Given the description of an element on the screen output the (x, y) to click on. 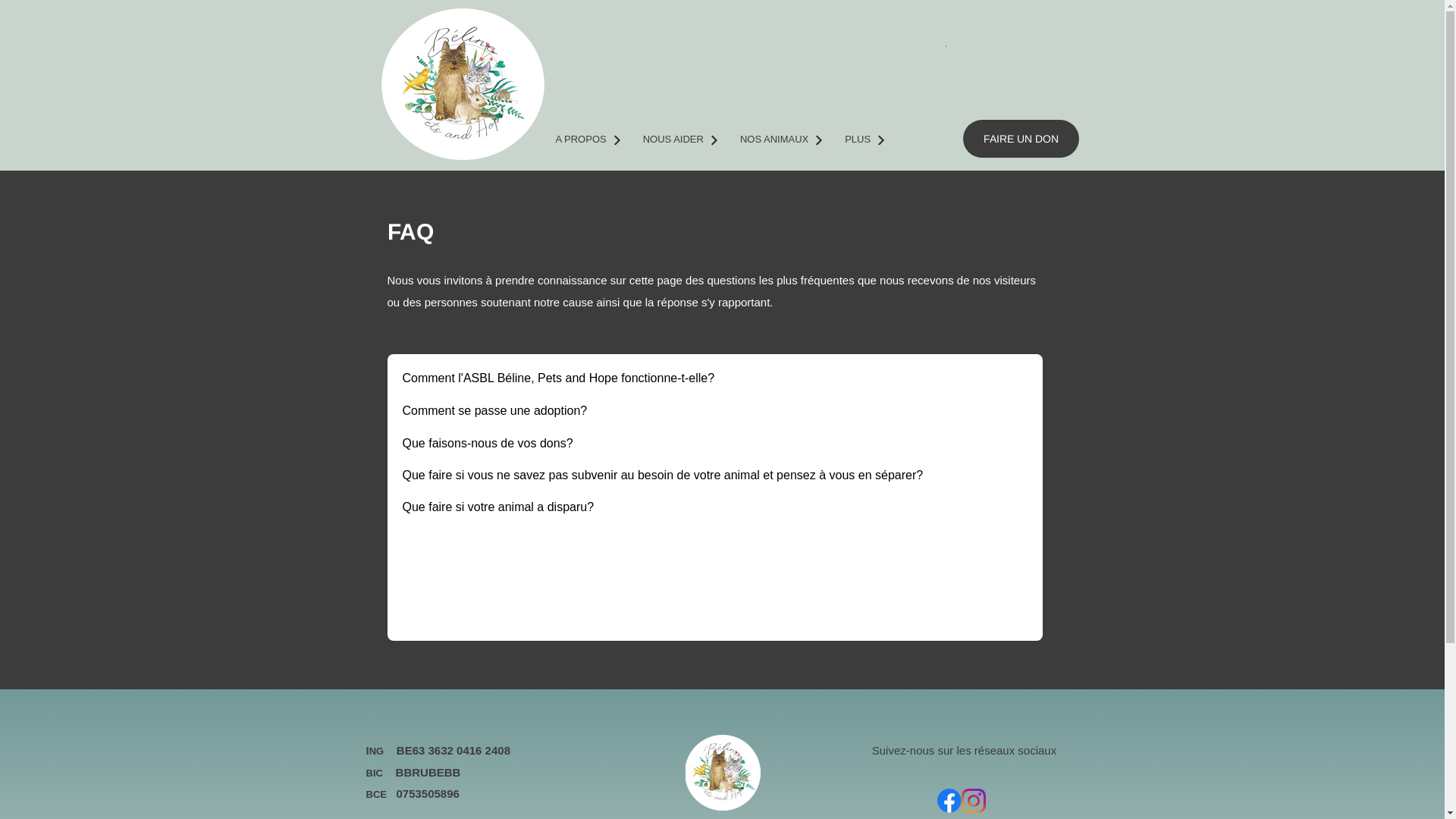
NOUS AIDER Element type: text (679, 139)
. Element type: text (945, 42)
FAIRE UN DON Element type: text (1021, 138)
A PROPOS Element type: text (587, 139)
PLUS Element type: text (864, 139)
NOS ANIMAUX Element type: text (780, 139)
